Given the description of an element on the screen output the (x, y) to click on. 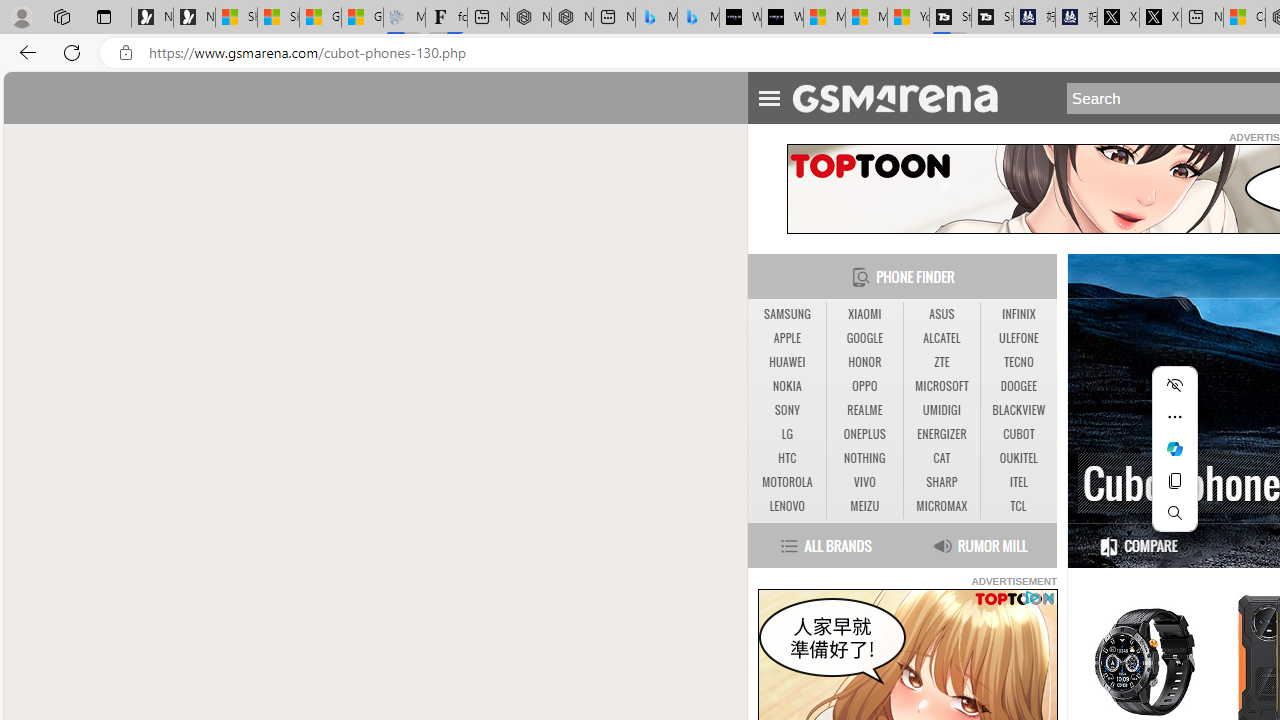
ZTE (941, 362)
SONY (786, 410)
DOOGEE (1018, 385)
SAMSUNG (786, 314)
TCL (1018, 506)
XIAOMI (864, 314)
REALME (863, 410)
OPPO (863, 385)
Hide menu (1174, 384)
LENOVO (786, 506)
ENERGIZER (941, 434)
Microsoft Bing Travel - Stays in Bangkok, Bangkok, Thailand (656, 17)
